Given the description of an element on the screen output the (x, y) to click on. 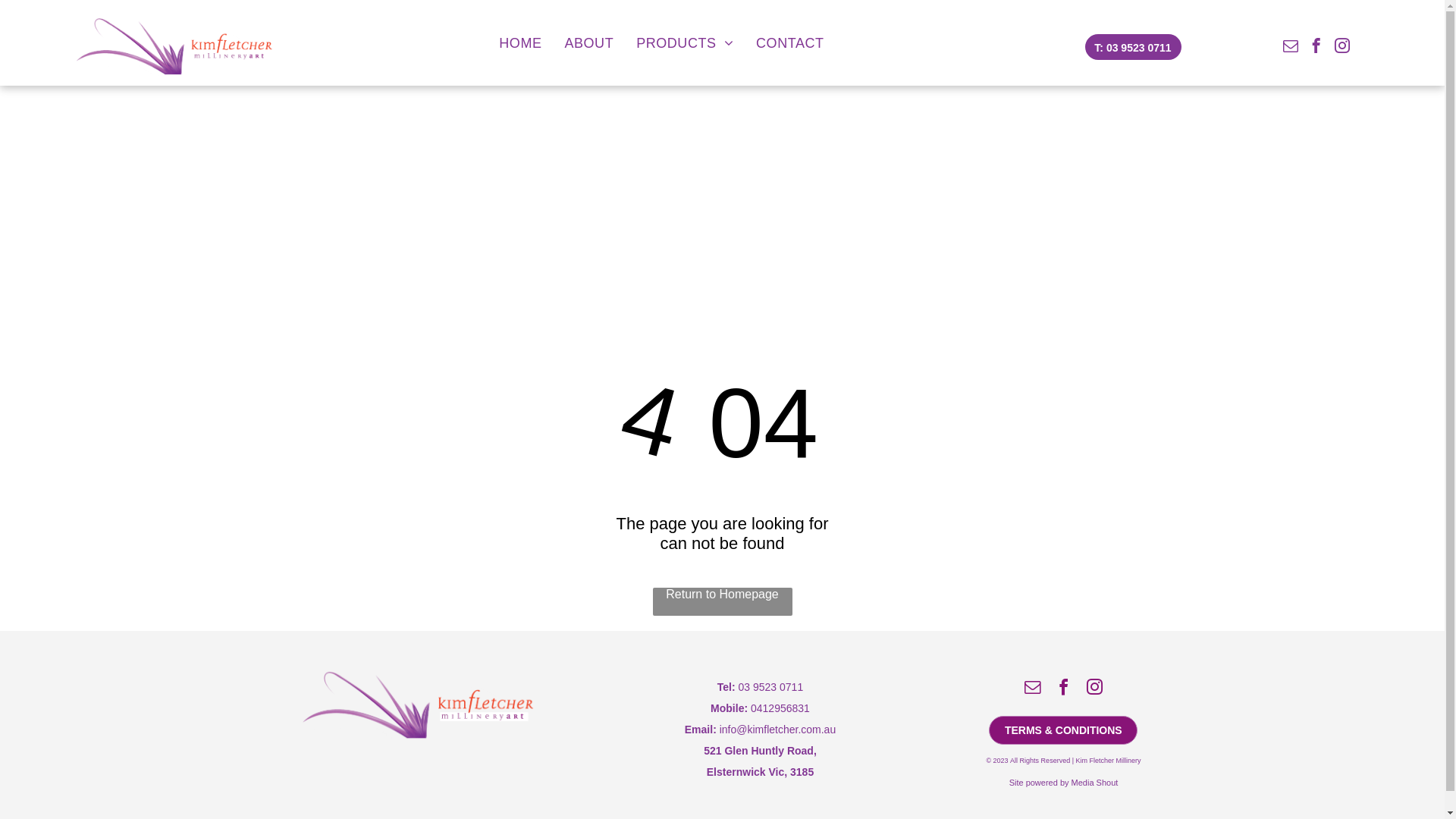
ABOUT Element type: text (588, 43)
info@kimfletcher.com.au Element type: text (777, 729)
T: 03 9523 0711 Element type: text (1133, 46)
  Element type: text (717, 729)
CONTACT Element type: text (789, 43)
03 9523 0711 Element type: text (770, 686)
PRODUCTS Element type: text (684, 43)
Return to Homepage Element type: text (721, 601)
Site powered by Media Shout Element type: text (1063, 782)
TERMS & CONDITIONS Element type: text (1062, 729)
HOME Element type: text (520, 43)
041295683 Element type: text (776, 708)
